Given the description of an element on the screen output the (x, y) to click on. 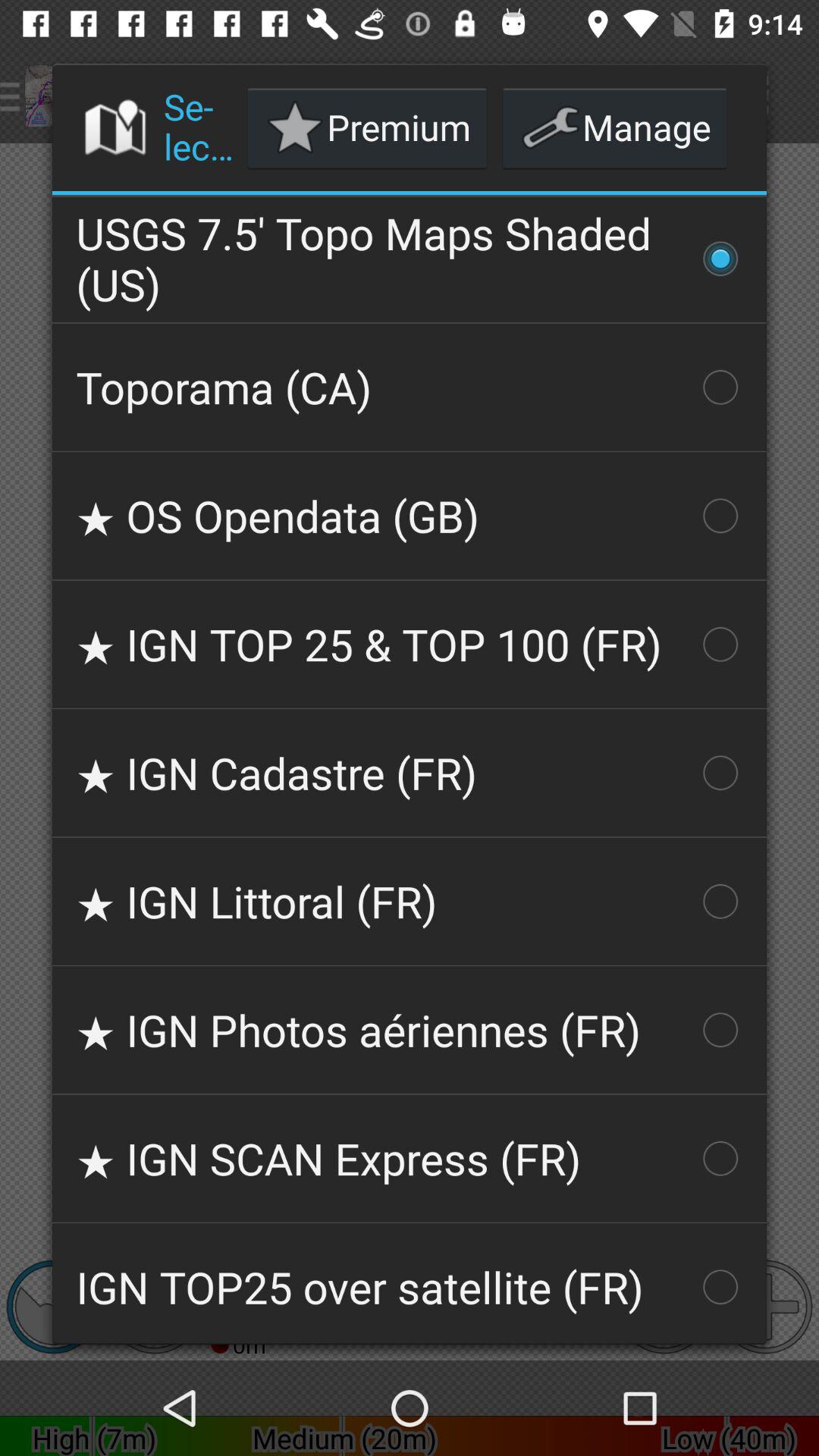
open item to the right of the select a map icon (366, 127)
